Given the description of an element on the screen output the (x, y) to click on. 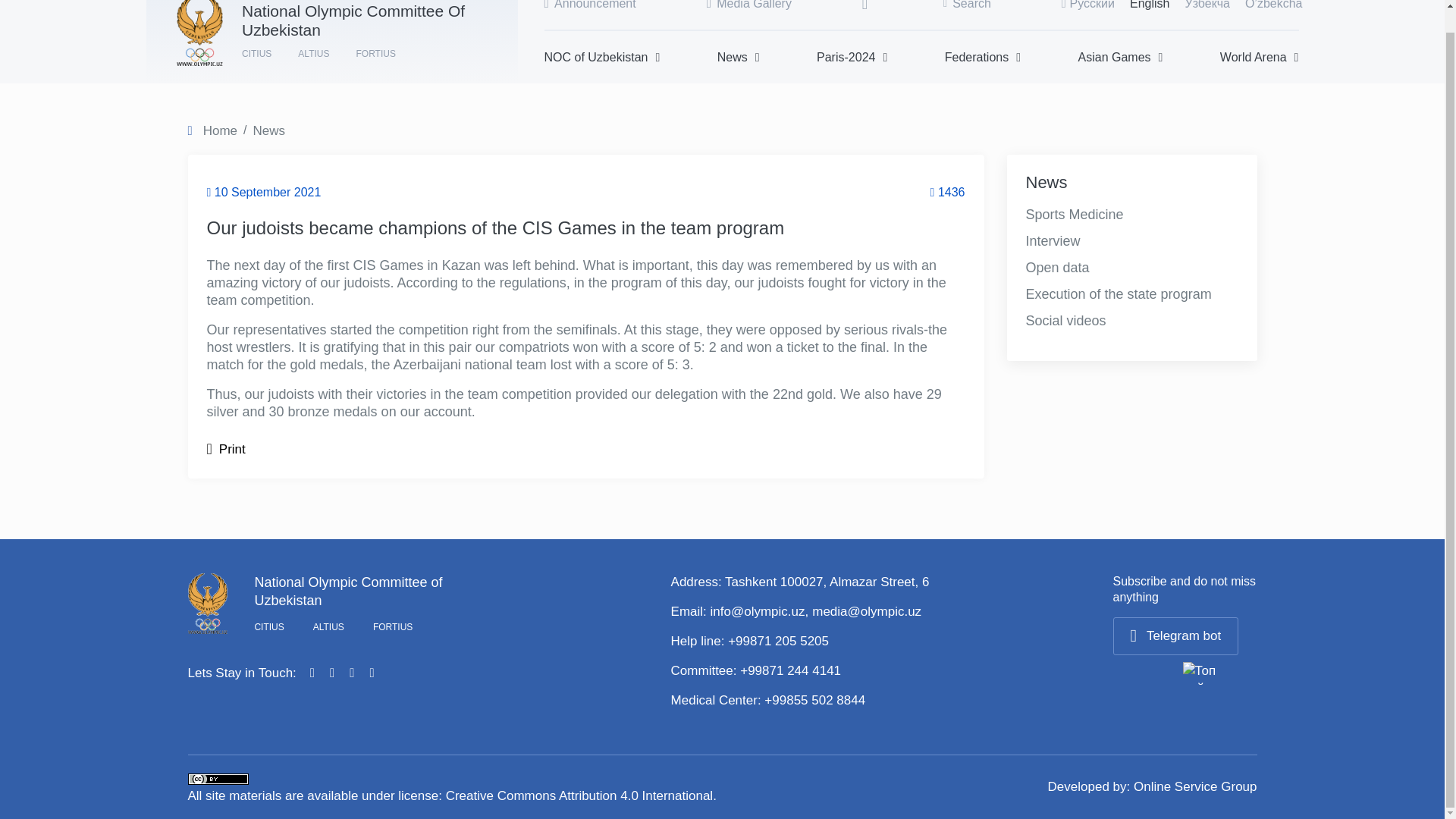
English (1149, 5)
Search (967, 5)
NOC of Uzbekistan (602, 57)
Media Gallery (749, 5)
News (738, 57)
Paris-2024 (851, 57)
Asian Games (1120, 57)
Announcement (590, 5)
Federations (982, 57)
